Given the description of an element on the screen output the (x, y) to click on. 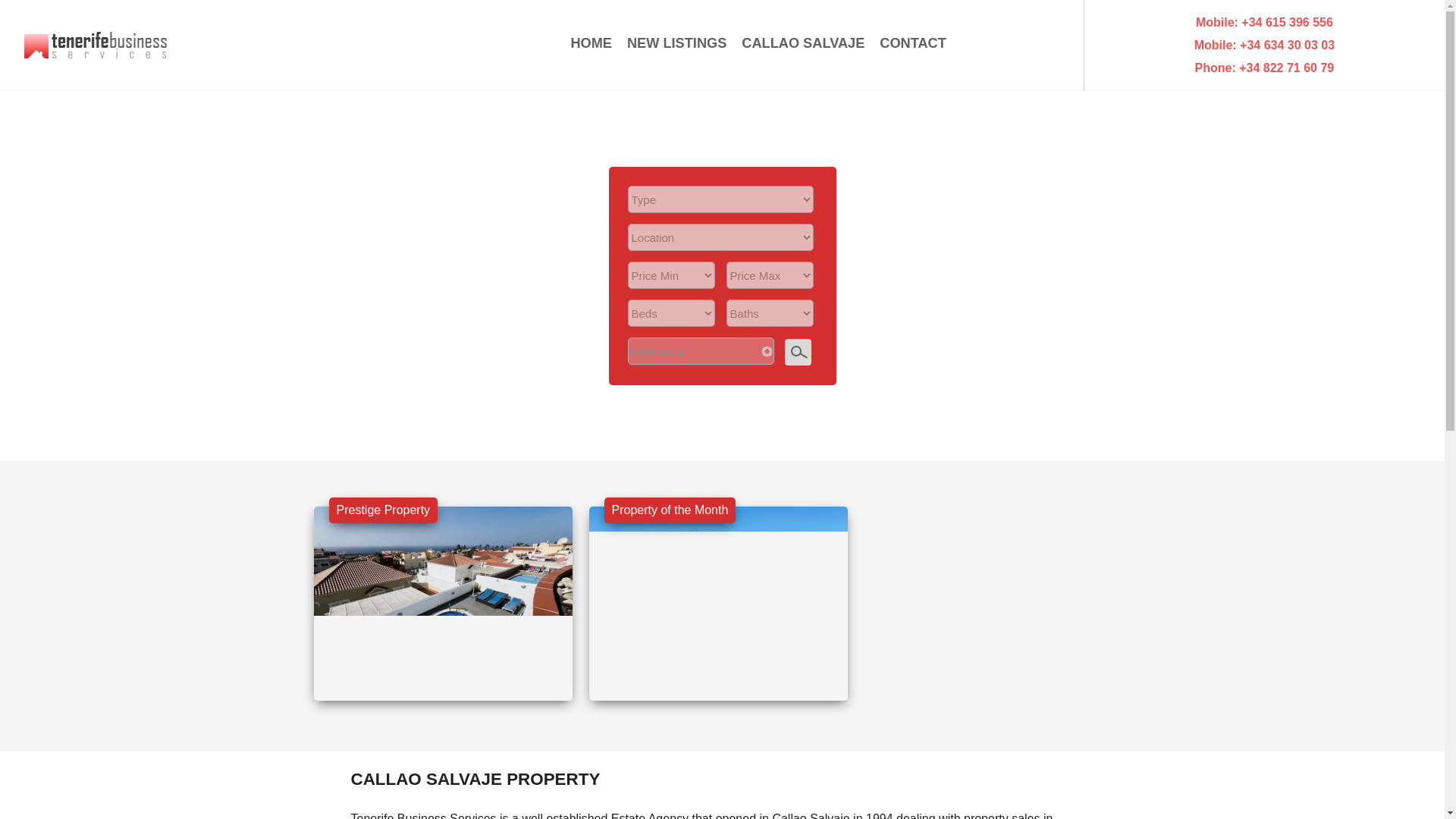
Prestige Property (383, 510)
NEW LISTINGS (676, 42)
Property of the Month (669, 510)
CONTACT (912, 42)
CALLAO SALVAJE (802, 42)
Home (95, 44)
Reference (700, 350)
HOME (591, 42)
